Given the description of an element on the screen output the (x, y) to click on. 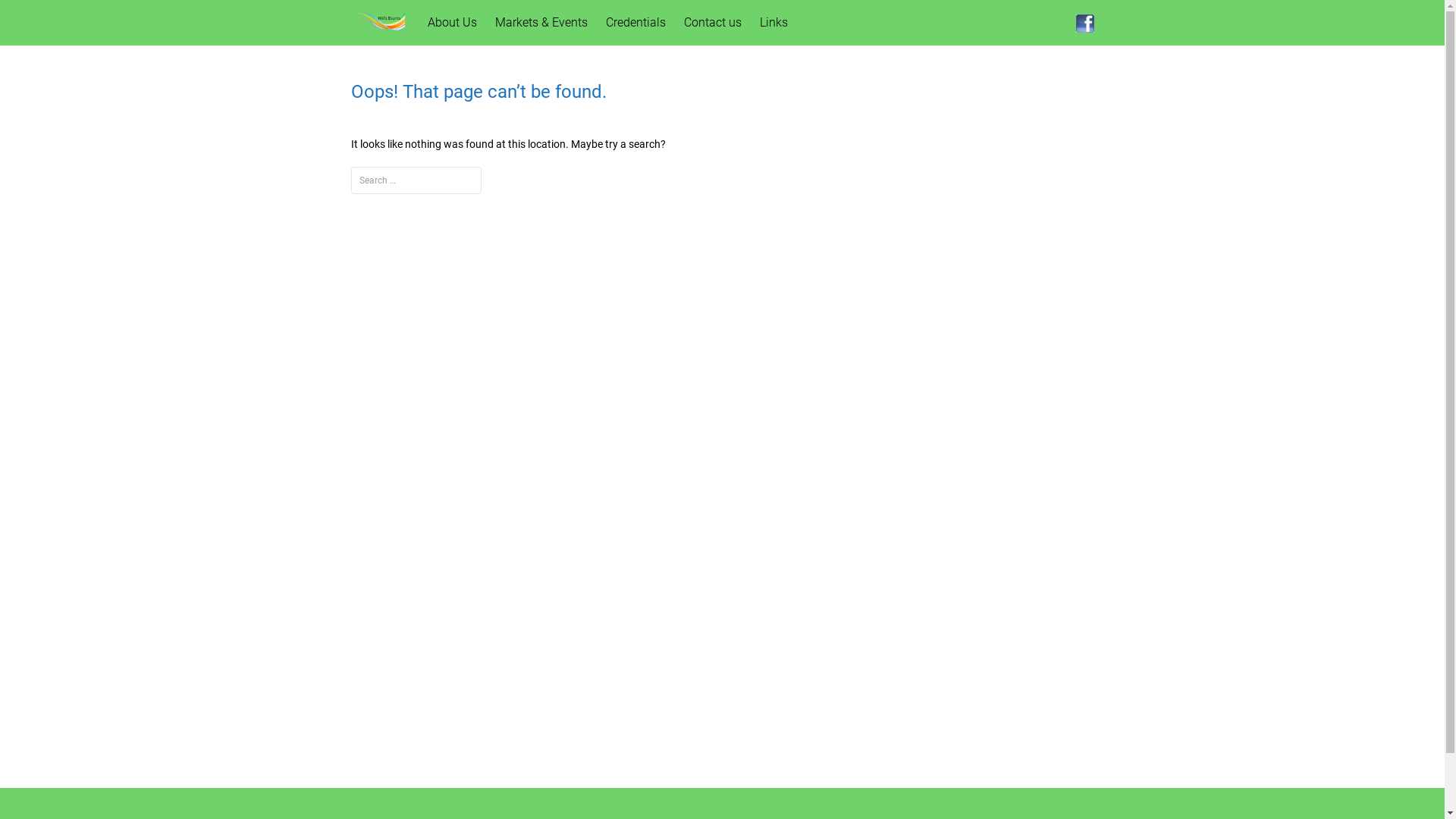
Contact us Element type: text (712, 22)
About Us Element type: text (452, 22)
Markets & Events Element type: text (541, 22)
Search Element type: text (35, 15)
Credentials Element type: text (635, 22)
Follow Us on Facebook Element type: hover (1084, 22)
Links Element type: text (773, 22)
